Given the description of an element on the screen output the (x, y) to click on. 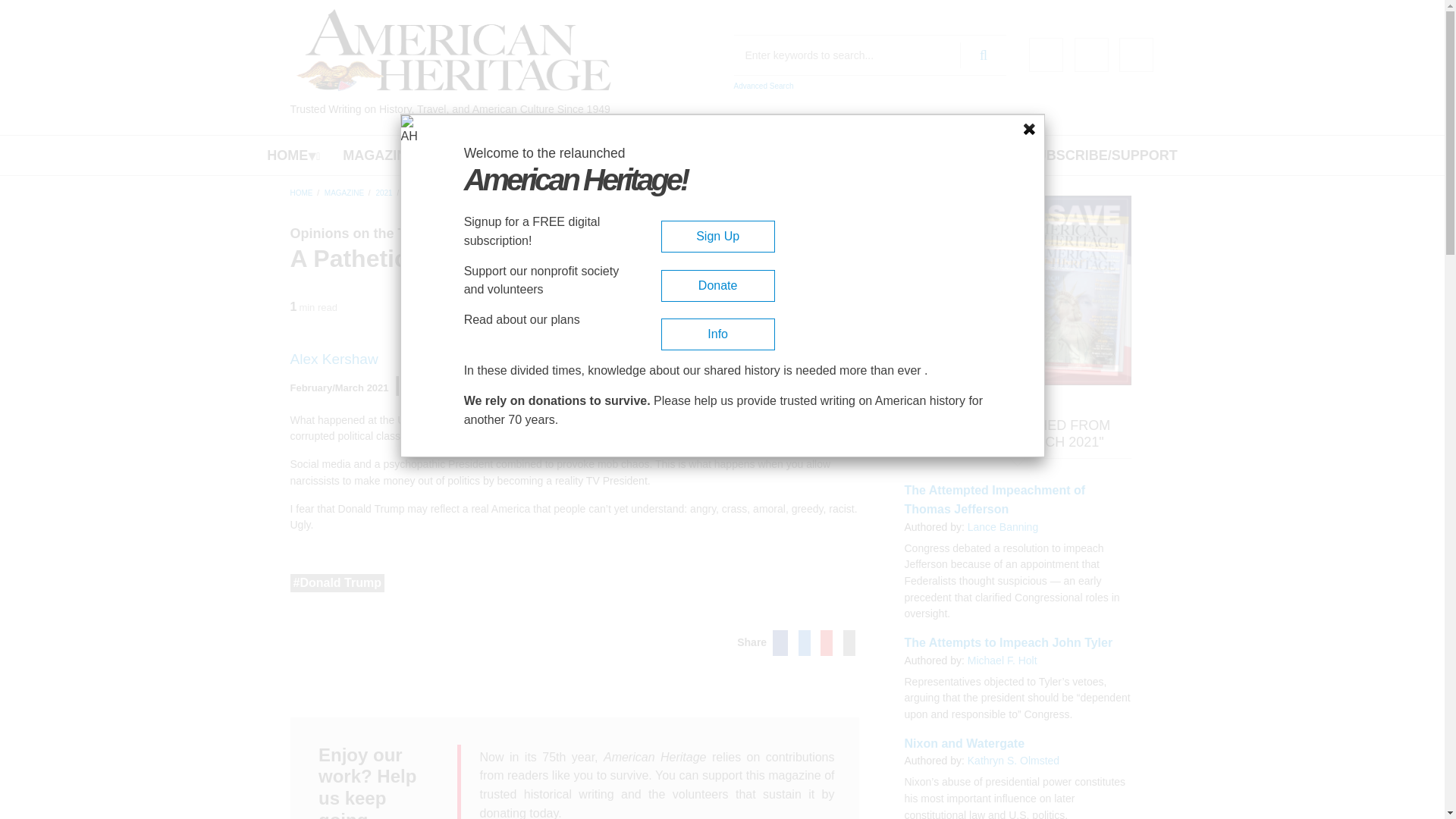
Search (982, 54)
Enter the terms you wish to search for. (870, 55)
RSS (1136, 54)
Facebook (1045, 54)
Home (453, 50)
Advanced Search (763, 85)
Search (982, 54)
Twitter (1091, 54)
Search (982, 54)
